Given the description of an element on the screen output the (x, y) to click on. 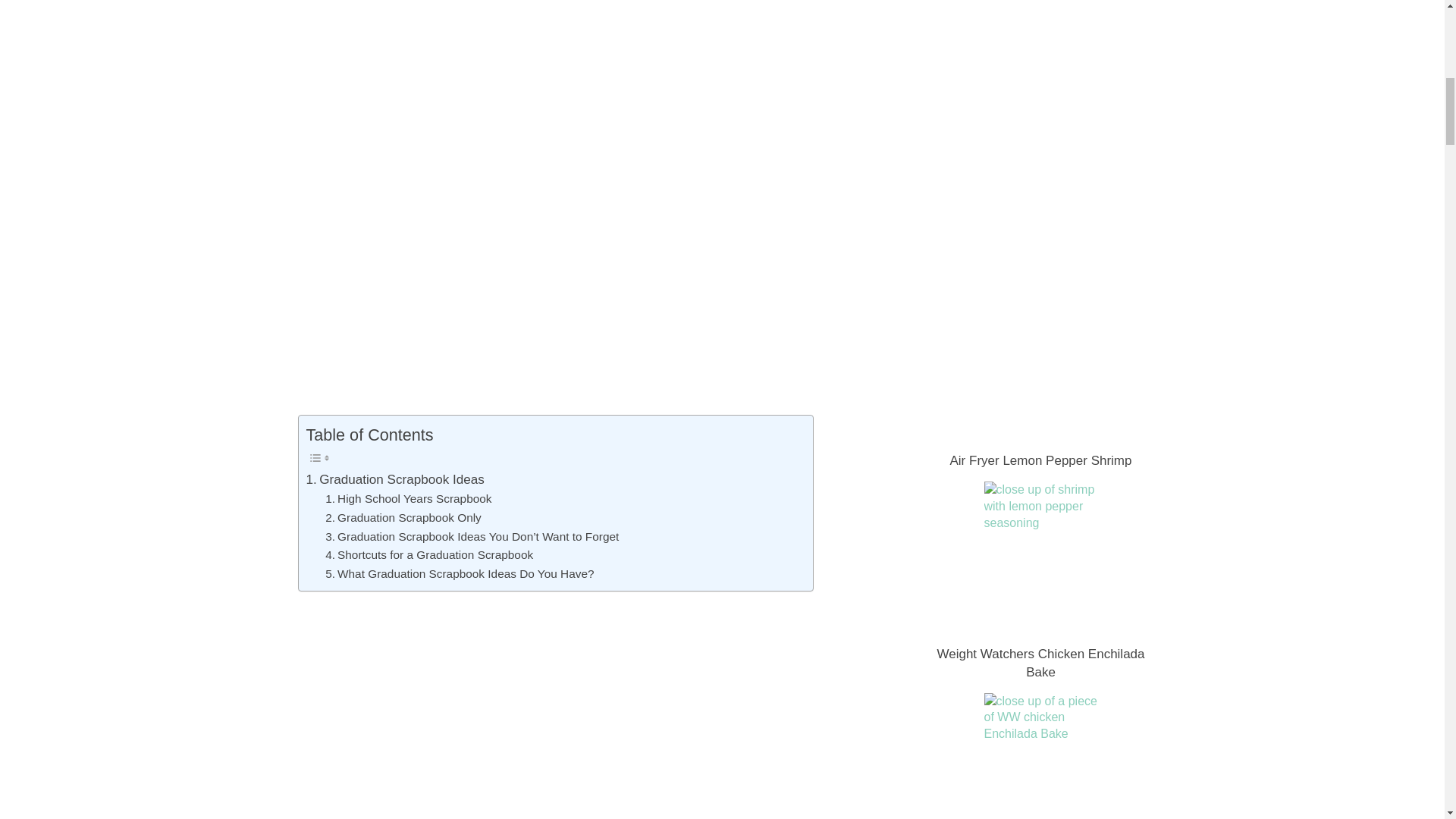
What Graduation Scrapbook Ideas Do You Have? (459, 574)
Shortcuts for a Graduation Scrapbook (428, 555)
High School Years Scrapbook (408, 498)
Graduation Scrapbook Ideas (394, 479)
Graduation Scrapbook Only (402, 517)
